Given the description of an element on the screen output the (x, y) to click on. 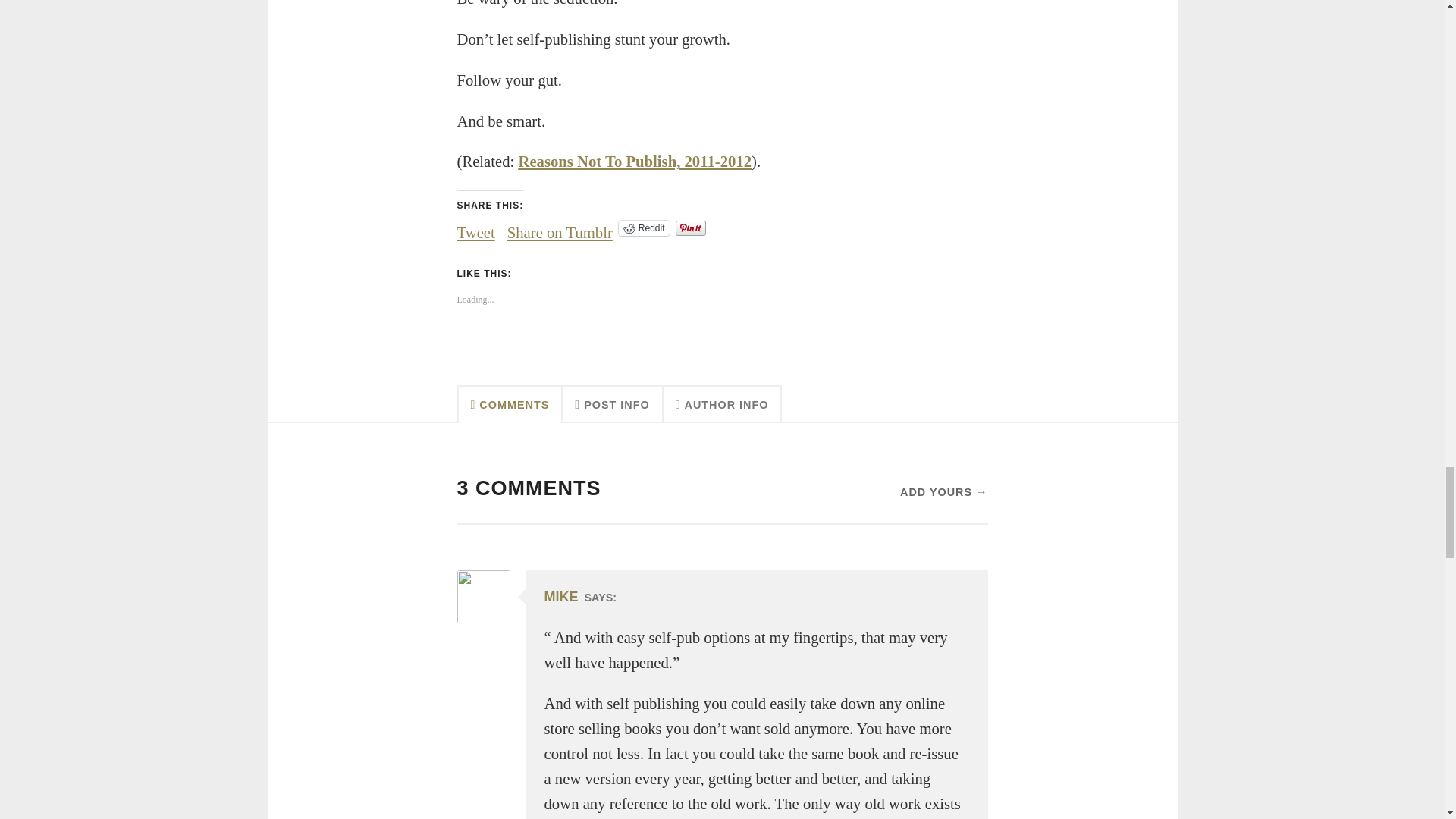
POST INFO (612, 403)
COMMENTS (509, 403)
Click to share on Reddit (643, 227)
AUTHOR INFO (723, 403)
Share on Tumblr (559, 227)
Share on Tumblr (559, 227)
Reddit (643, 227)
Tweet (476, 227)
Reasons Not To Publish, 2011-2012 (635, 161)
MIKE (561, 596)
